Given the description of an element on the screen output the (x, y) to click on. 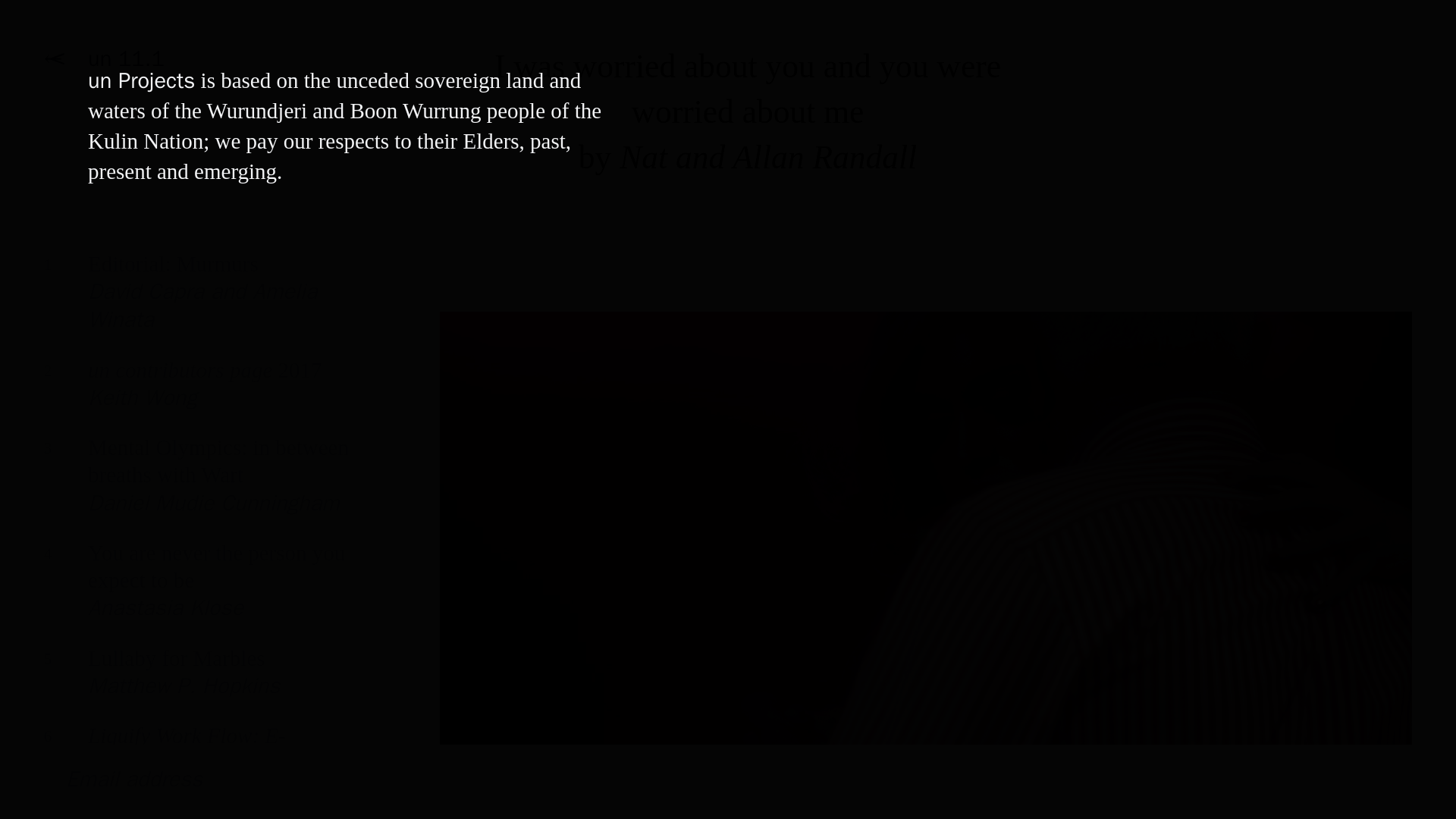
Posts by Nat and Allan Randall (197, 395)
Nat and Allan Randall (768, 156)
